Given the description of an element on the screen output the (x, y) to click on. 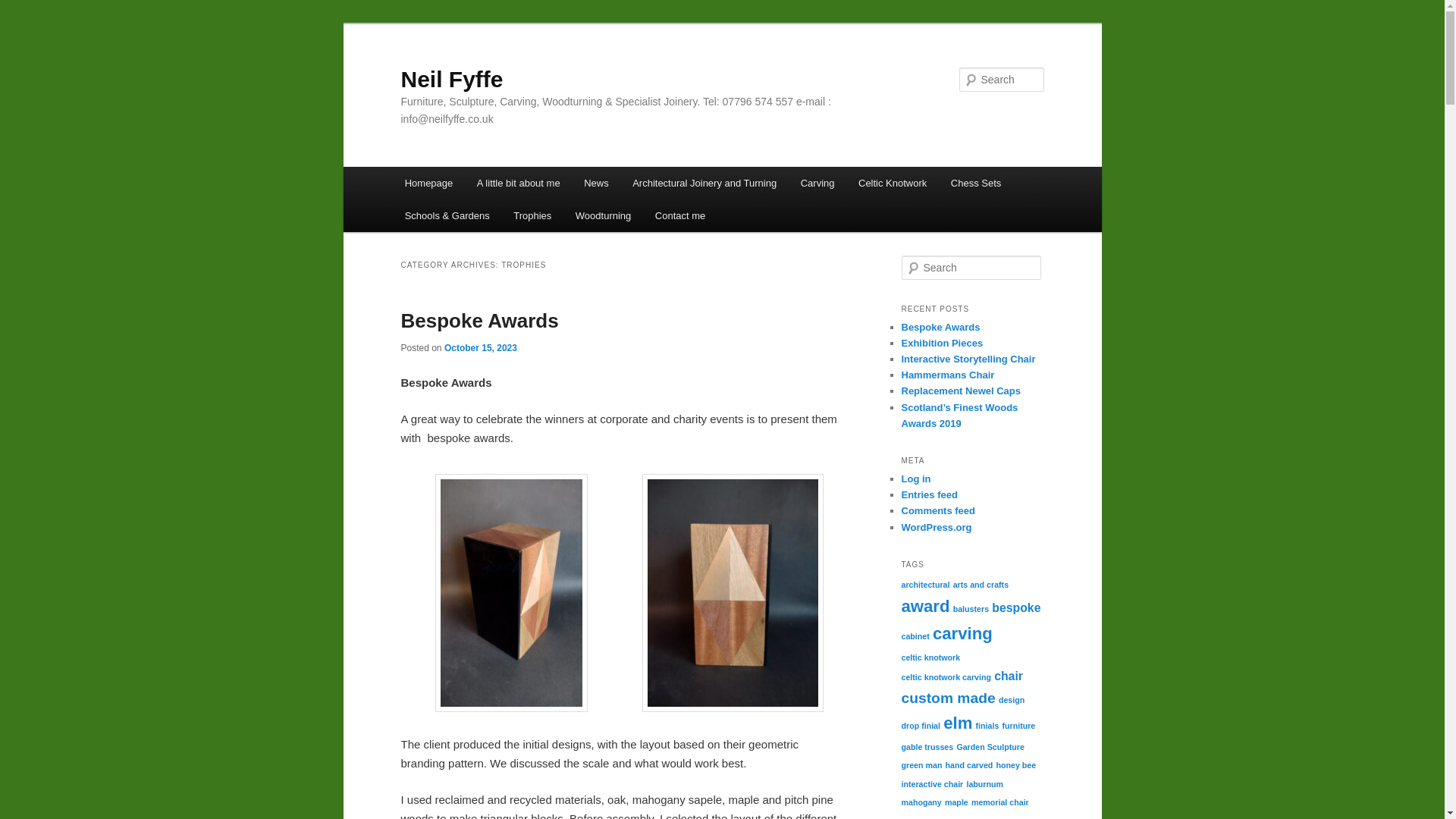
October 15, 2023 (480, 347)
Bespoke Awards (478, 320)
Trophies (531, 215)
Homepage (428, 183)
Celtic Knotwork (892, 183)
Architectural Joinery and Turning (704, 183)
Chess Sets (976, 183)
News (596, 183)
Search (24, 8)
A little bit about me (518, 183)
Neil Fyffe (451, 78)
Contact me (680, 215)
Carving (817, 183)
Woodturning (603, 215)
